Given the description of an element on the screen output the (x, y) to click on. 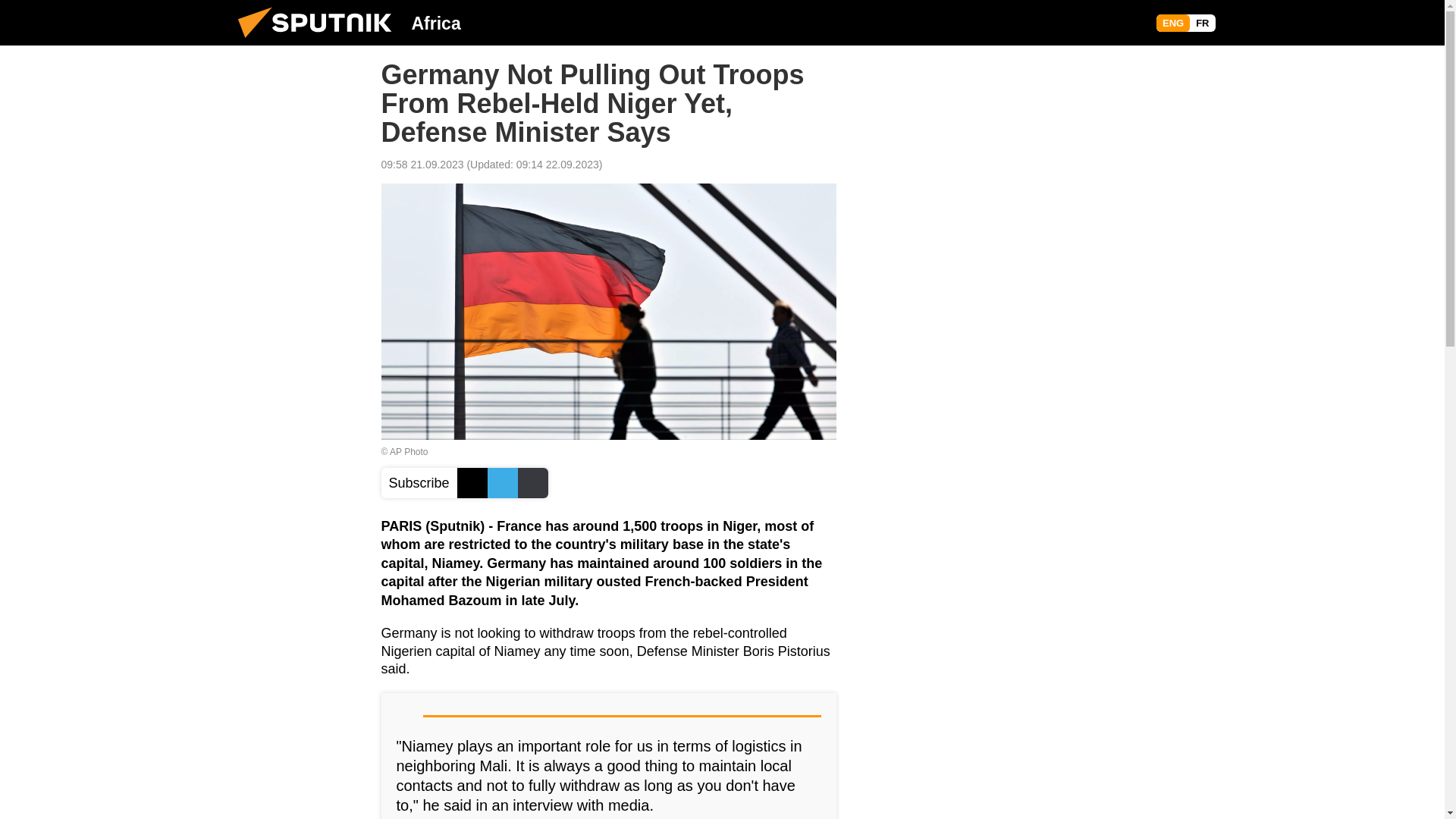
FR (1201, 22)
Sputnik Africa (319, 41)
ENG (1172, 22)
